Given the description of an element on the screen output the (x, y) to click on. 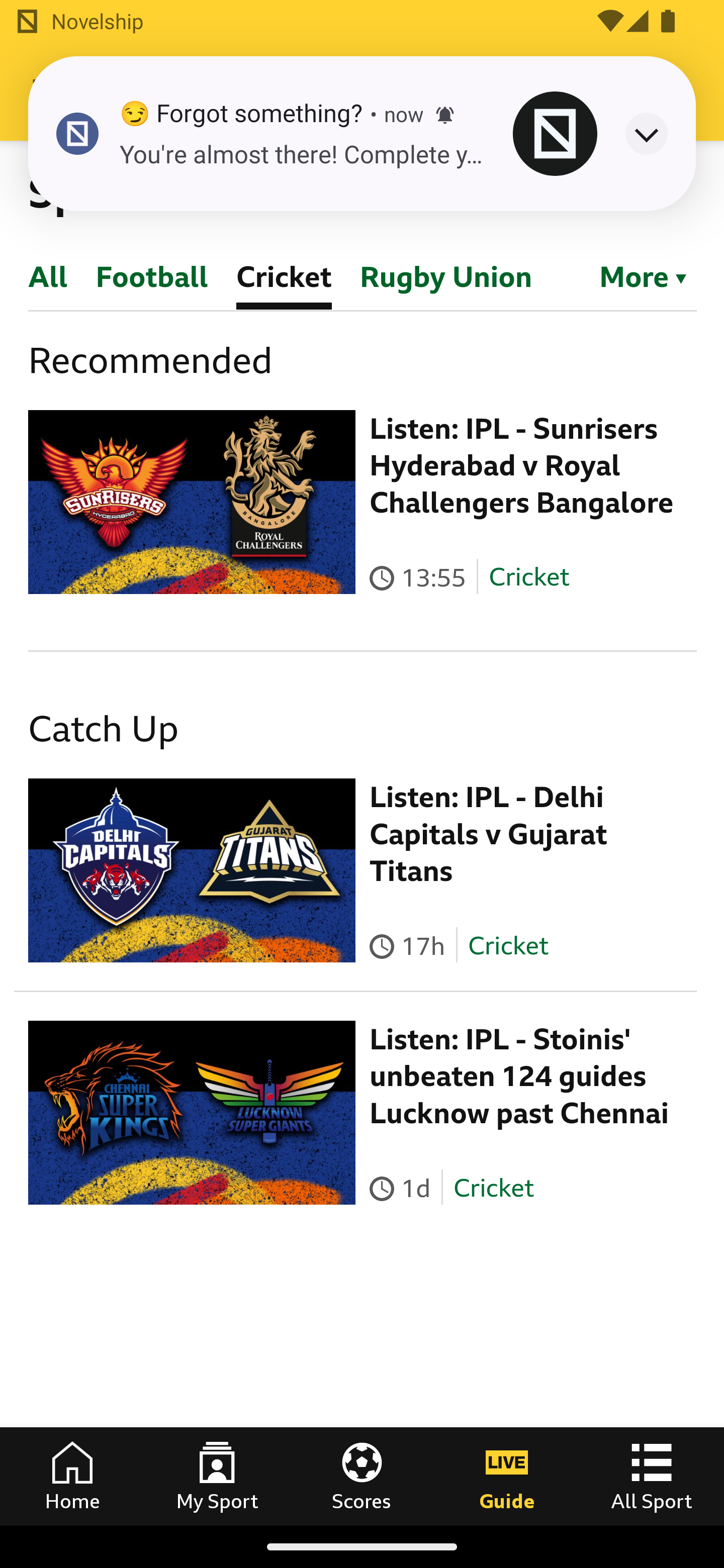
Filter by section. Currently selected: Cricket (634, 275)
Cricket (528, 576)
Listen: IPL - Delhi Capitals v Gujarat Titans (488, 833)
Cricket (507, 945)
Cricket (493, 1186)
Home (72, 1475)
My Sport (216, 1475)
Scores (361, 1475)
All Sport (651, 1475)
